Given the description of an element on the screen output the (x, y) to click on. 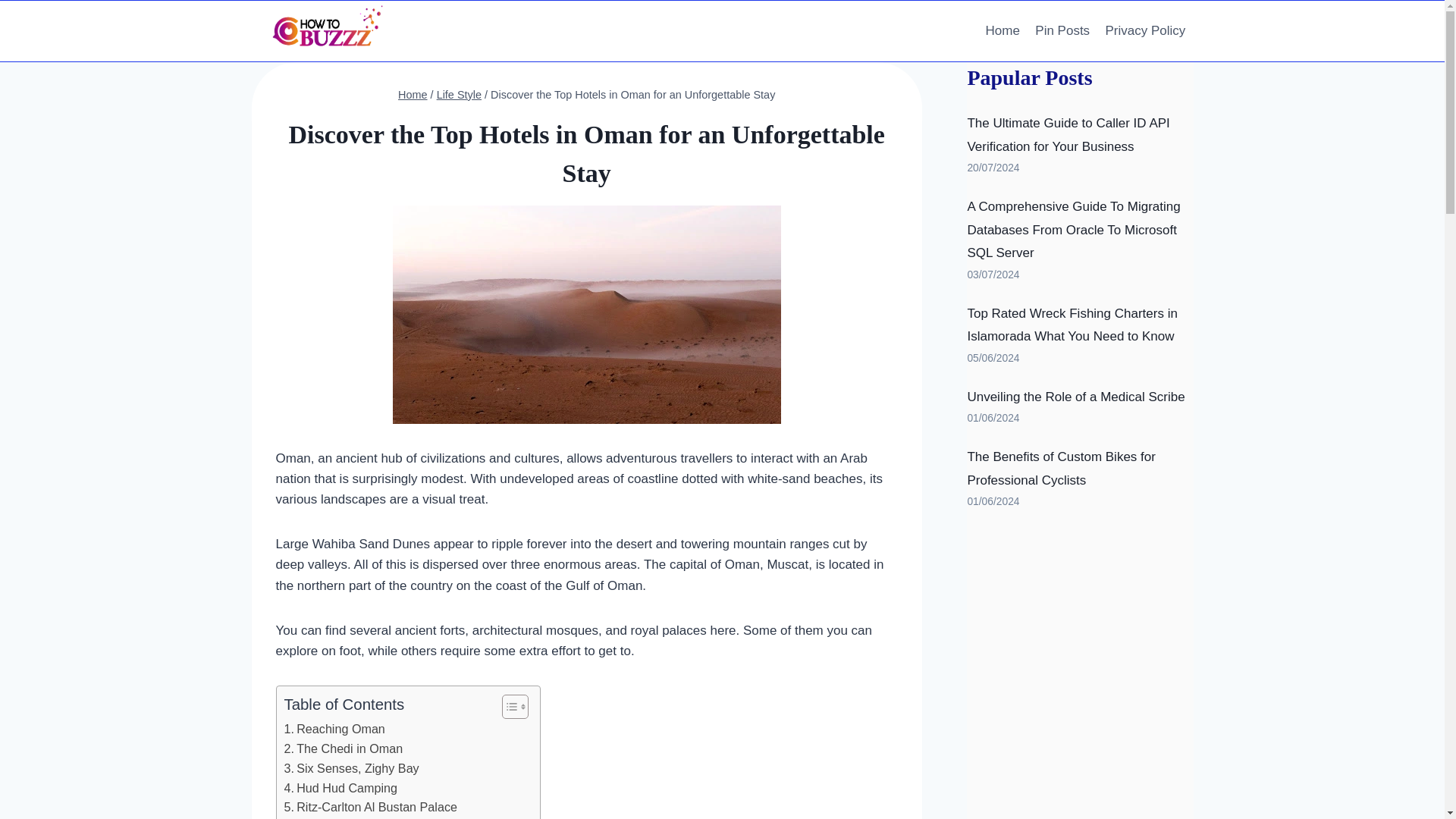
Privacy Policy (1144, 31)
The Chedi in Oman (343, 749)
Six Senses, Zighy Bay (351, 768)
The Chedi in Oman (343, 749)
Reaching Oman  (335, 729)
Six Senses, Zighy Bay (351, 768)
Life Style (458, 94)
Unveiling the Role of a Medical Scribe (1075, 396)
Pin Posts (1062, 31)
